Given the description of an element on the screen output the (x, y) to click on. 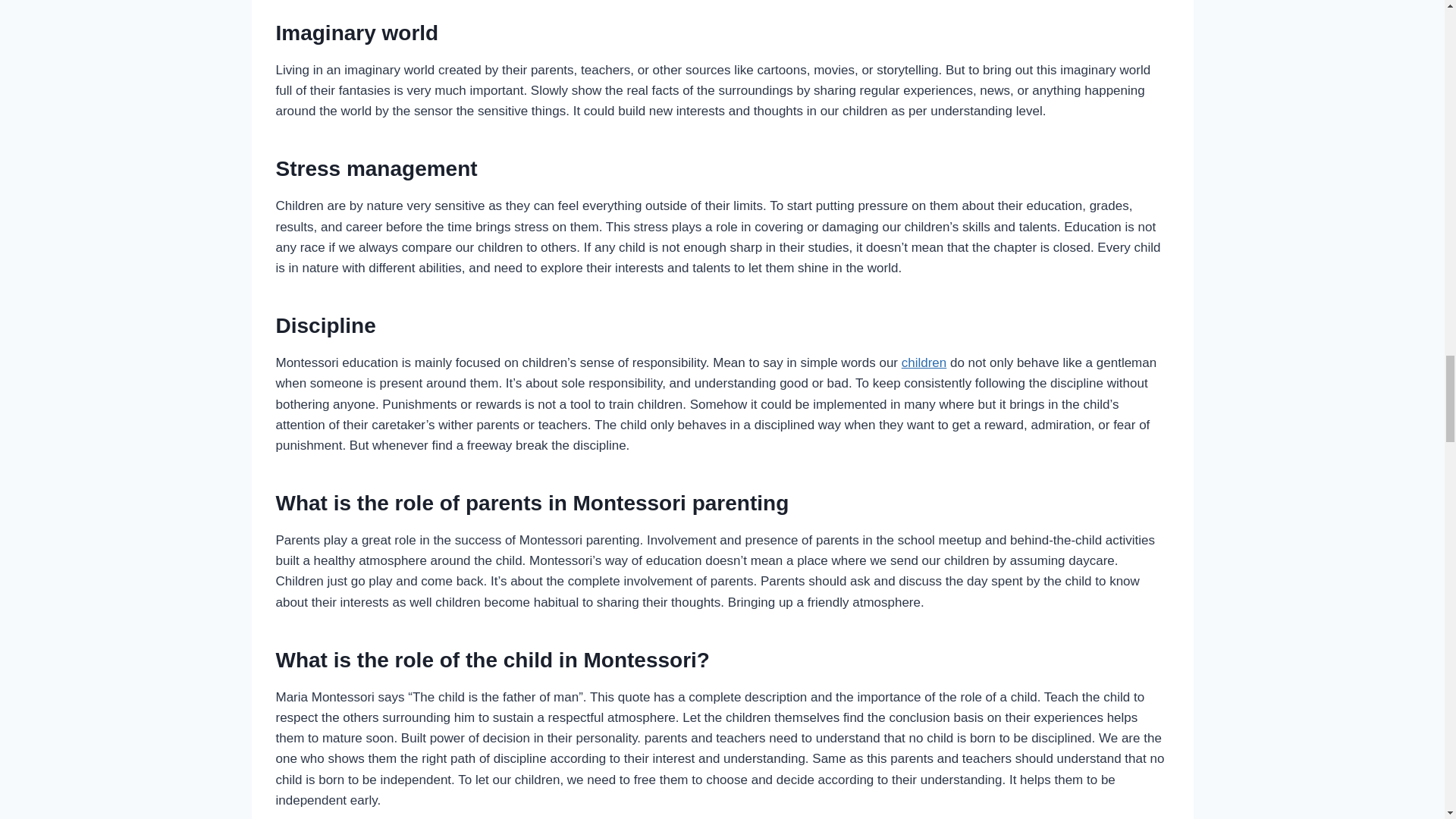
children (924, 362)
